Given the description of an element on the screen output the (x, y) to click on. 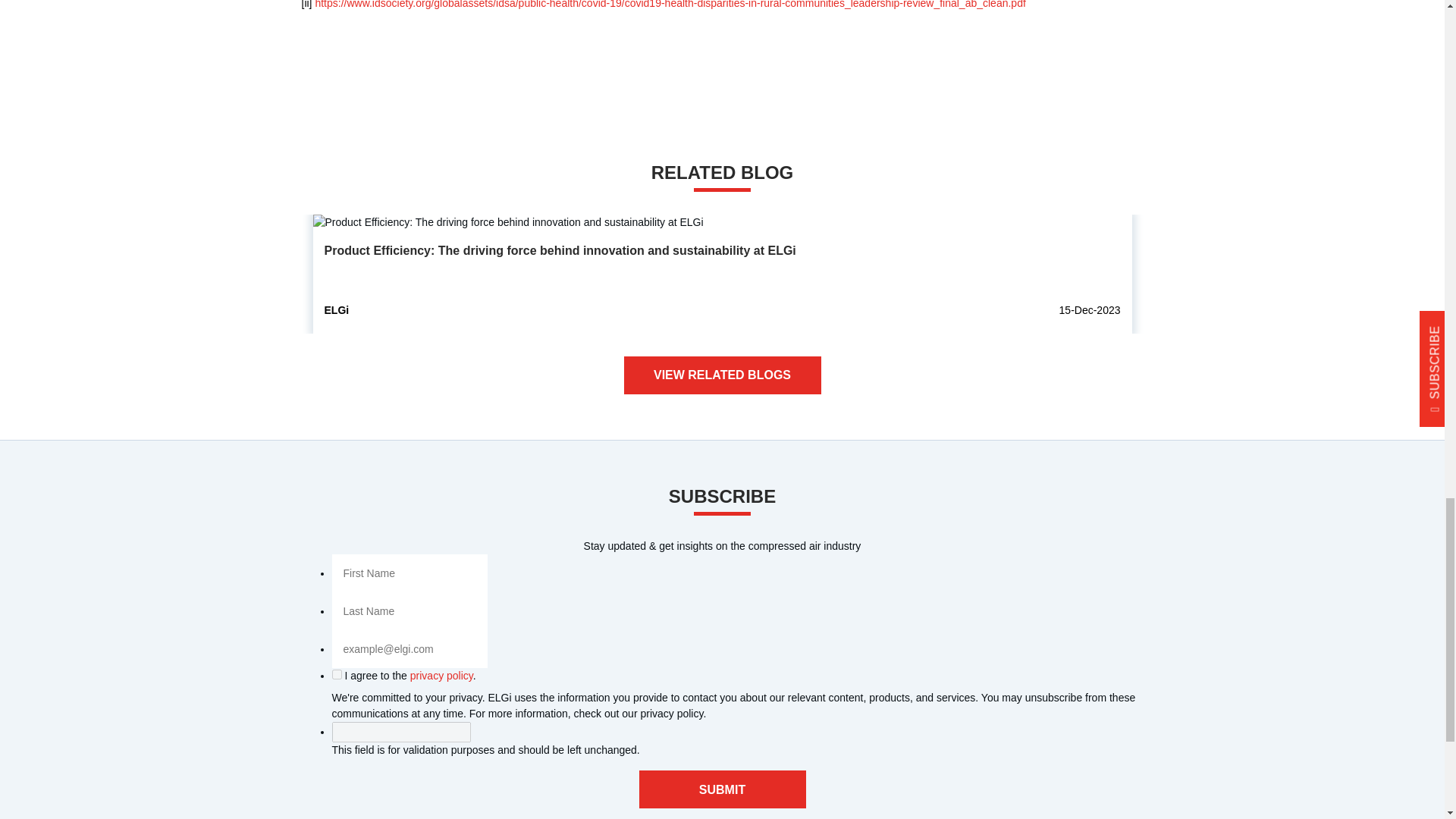
Submit (722, 789)
VIEW RELATED BLOGS (722, 374)
privacy policy (441, 675)
Submit (722, 789)
1 (336, 674)
